Given the description of an element on the screen output the (x, y) to click on. 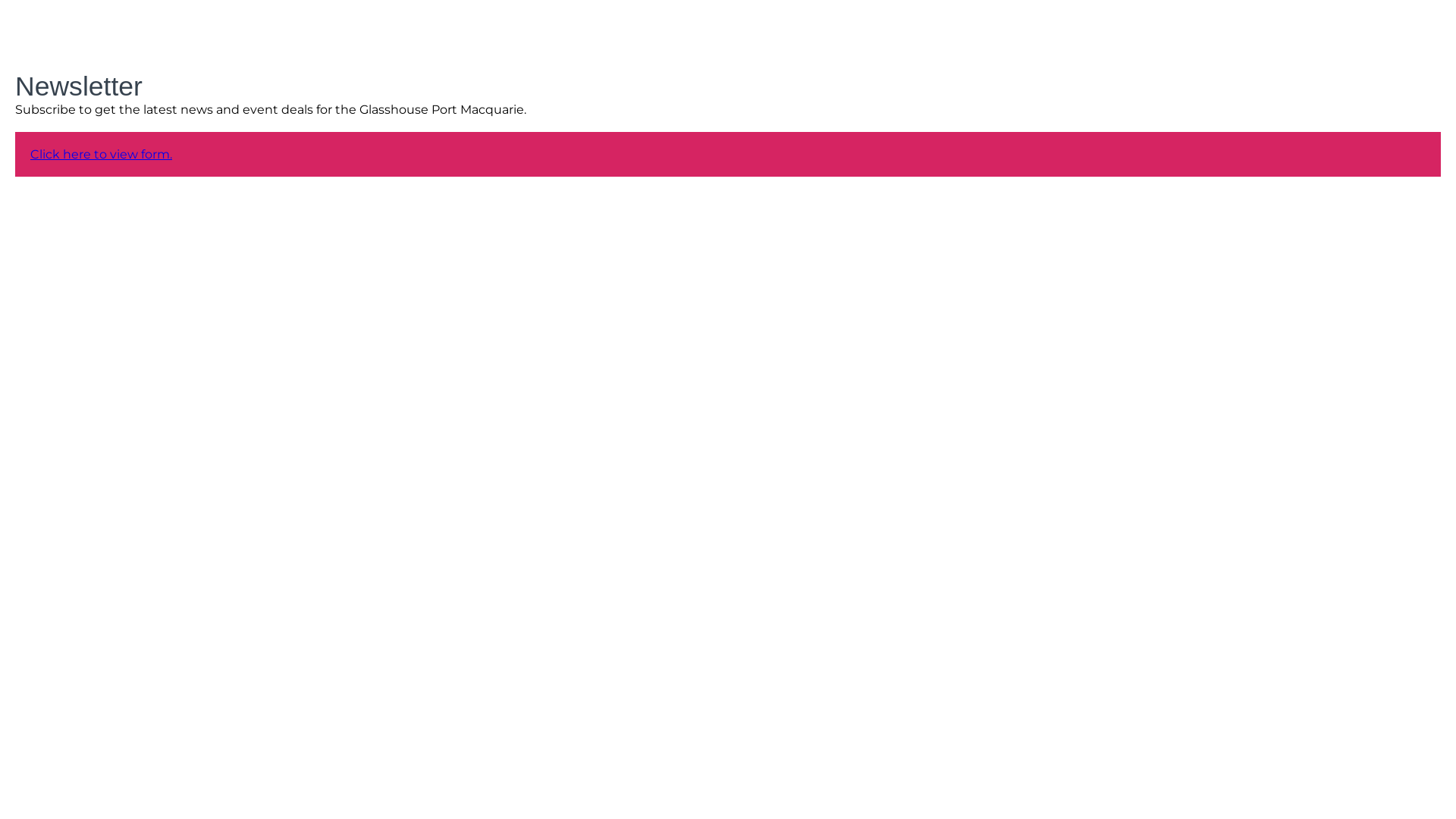
Click here to view form. Element type: text (101, 154)
